Given the description of an element on the screen output the (x, y) to click on. 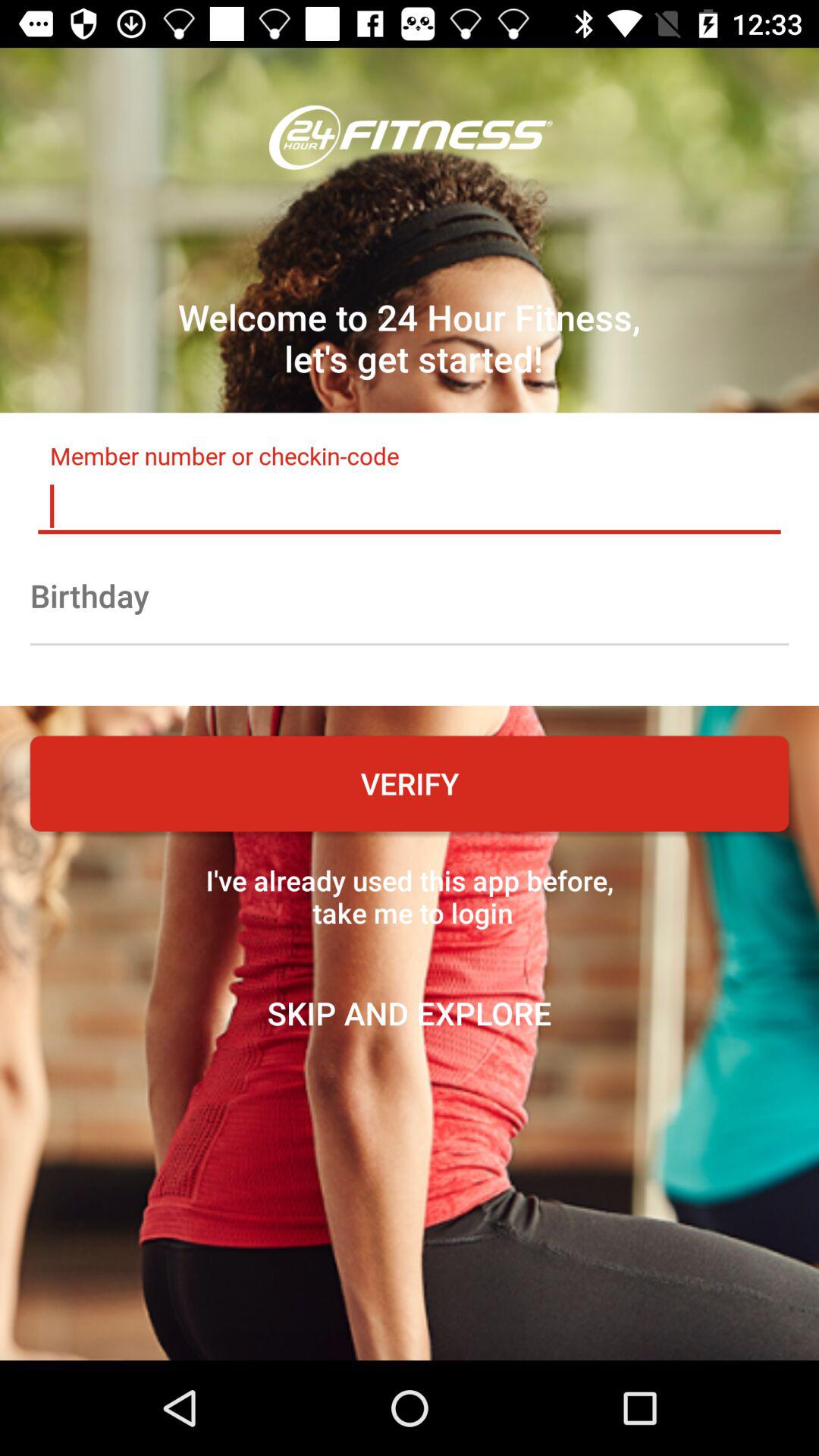
placeholder to update birth date (409, 595)
